Given the description of an element on the screen output the (x, y) to click on. 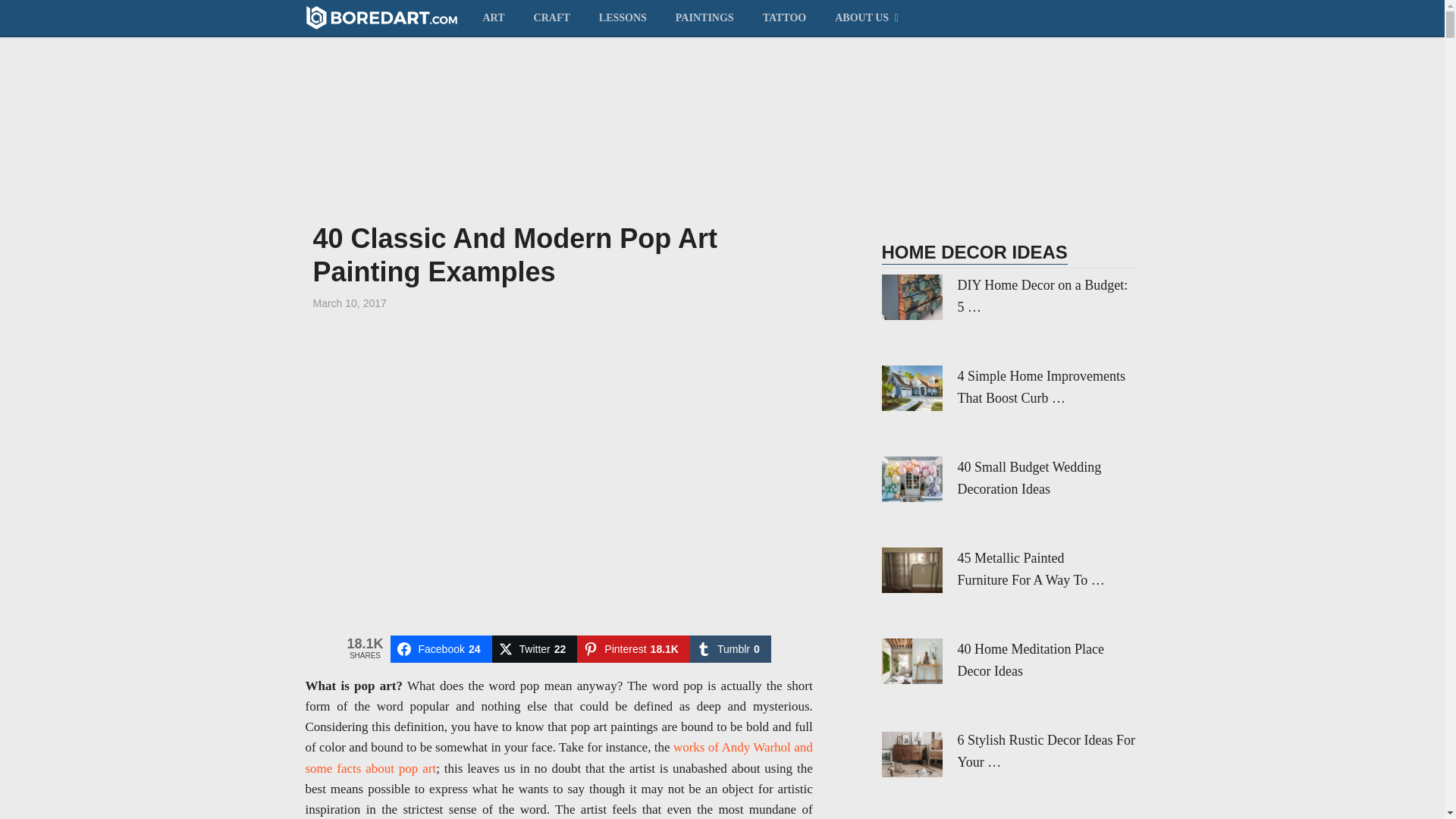
ART (499, 18)
Share on Twitter (535, 648)
Tumblr0 (730, 648)
Share on Facebook (441, 648)
Facebook24 (441, 648)
PAINTINGS (704, 18)
ABOUT US (864, 18)
CRAFT (552, 18)
Pinterest18.1K (633, 648)
40 Small Budget Wedding Decoration Ideas (1009, 478)
